Given the description of an element on the screen output the (x, y) to click on. 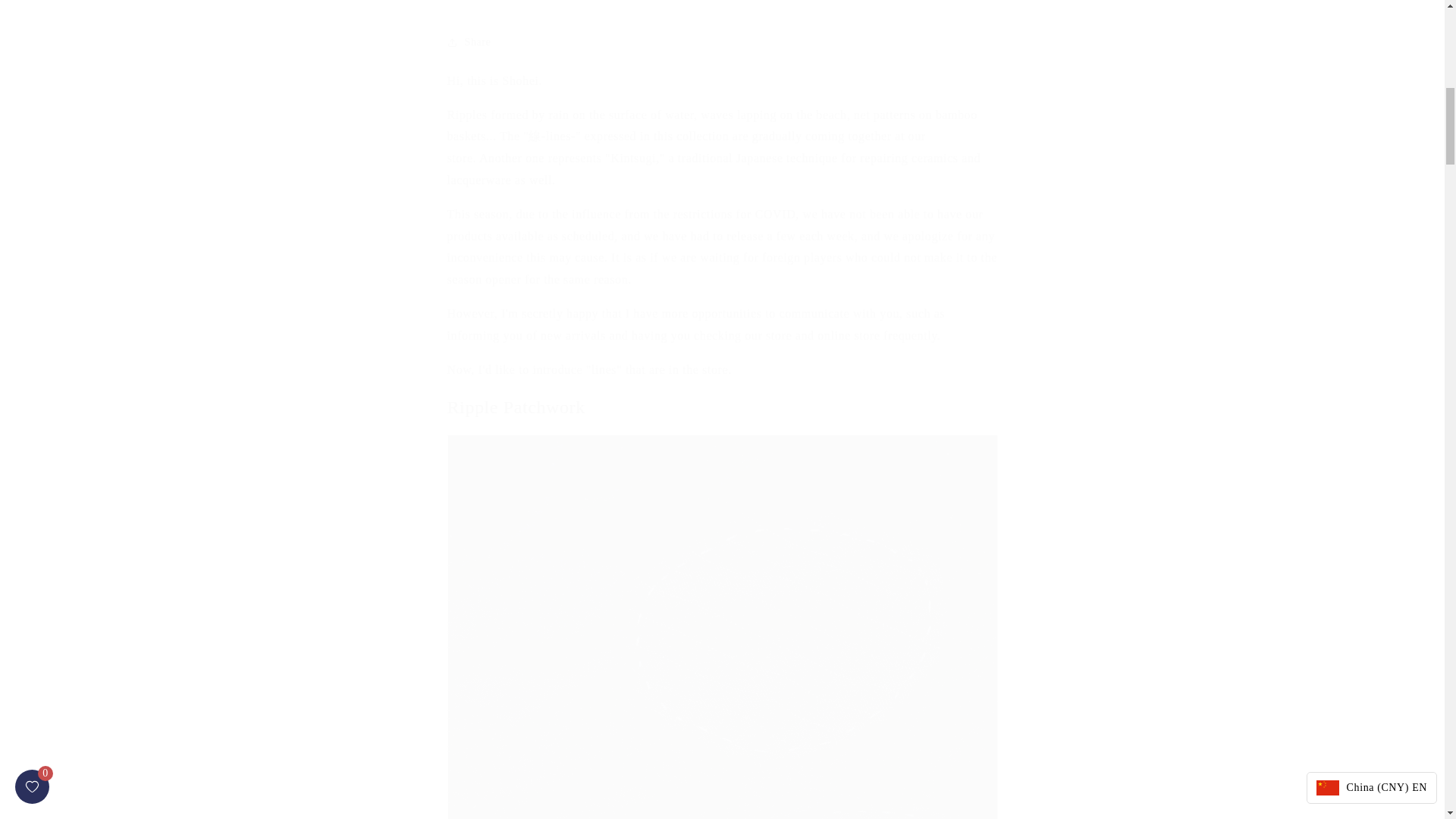
Share (721, 41)
